Given the description of an element on the screen output the (x, y) to click on. 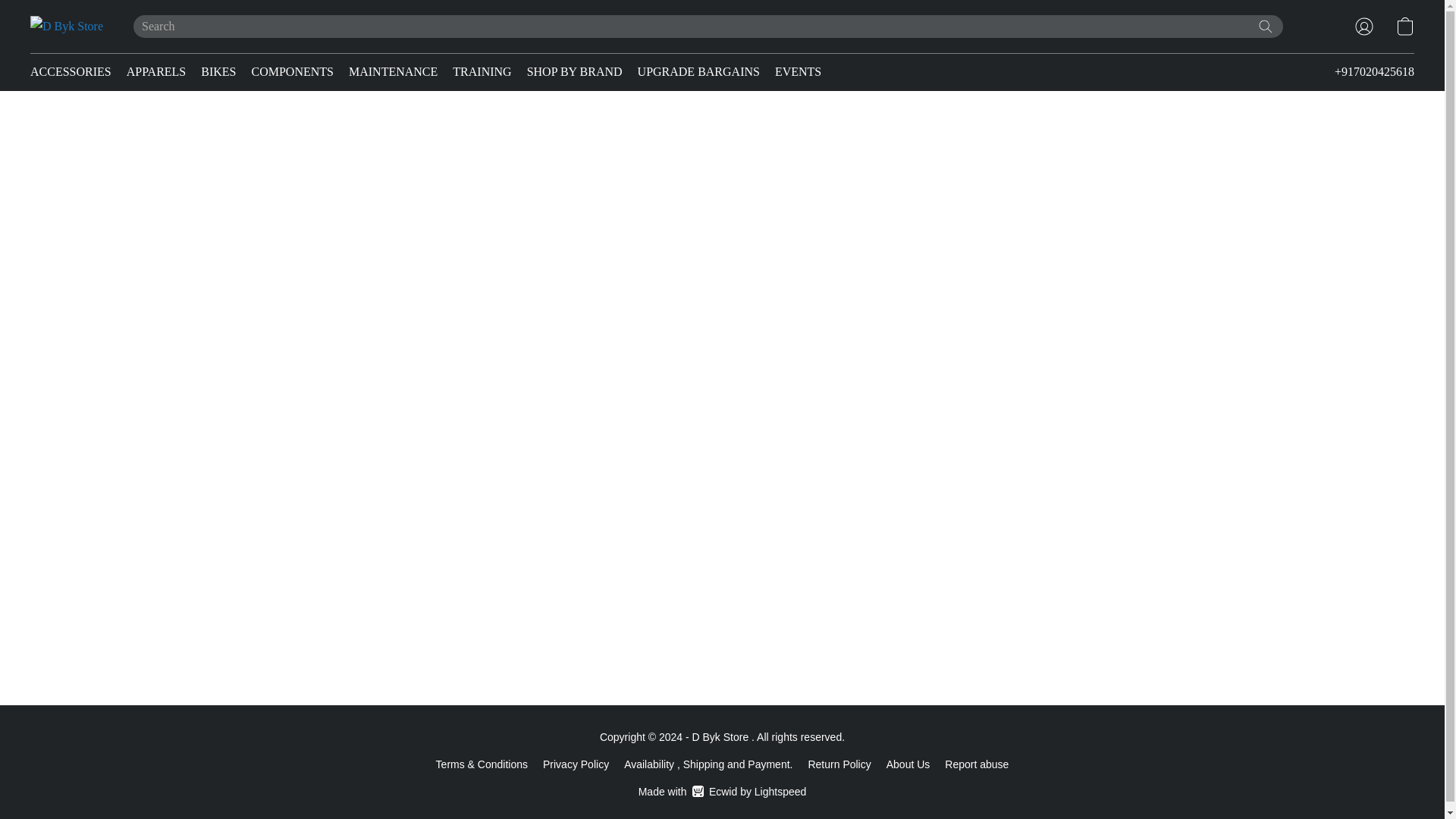
Availability , Shipping and Payment. (708, 764)
BIKES (218, 71)
Privacy Policy (575, 764)
EVENTS (794, 71)
COMPONENTS (292, 71)
SHOP BY BRAND (574, 71)
TRAINING (481, 71)
MAINTENANCE (392, 71)
Report abuse (976, 764)
ACCESSORIES (74, 71)
